Given the description of an element on the screen output the (x, y) to click on. 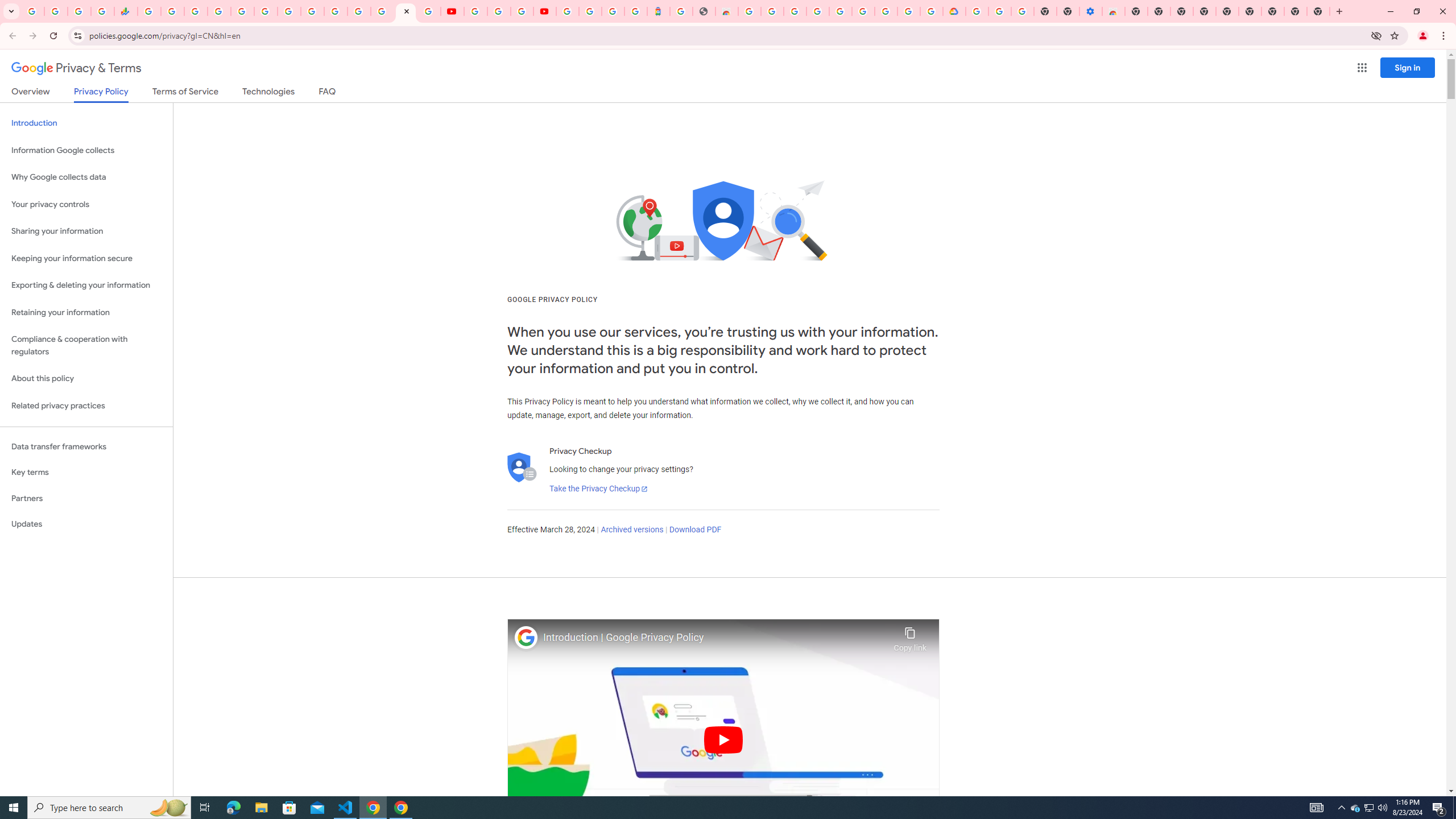
Settings - Accessibility (1091, 11)
Content Creator Programs & Opportunities - YouTube Creators (545, 11)
Google Account Help (863, 11)
Google Account Help (498, 11)
Google Account Help (999, 11)
Sharing your information (86, 230)
